Given the description of an element on the screen output the (x, y) to click on. 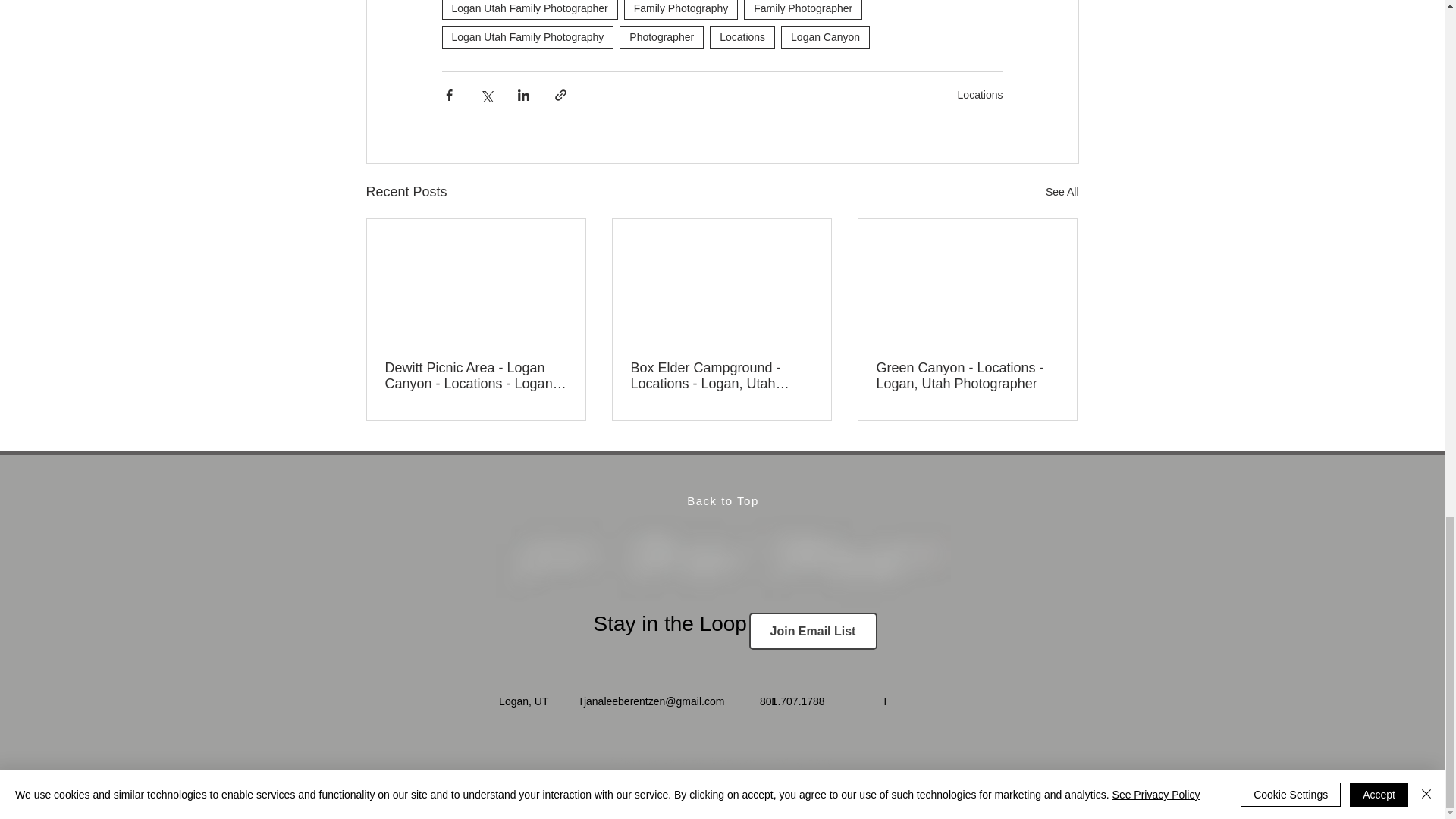
Locations (742, 36)
Family Photographer (802, 9)
Logan Utah Family Photographer (529, 9)
Family Photography (681, 9)
Logan Canyon (824, 36)
Photographer (661, 36)
Logan Utah Family Photography (526, 36)
